Given the description of an element on the screen output the (x, y) to click on. 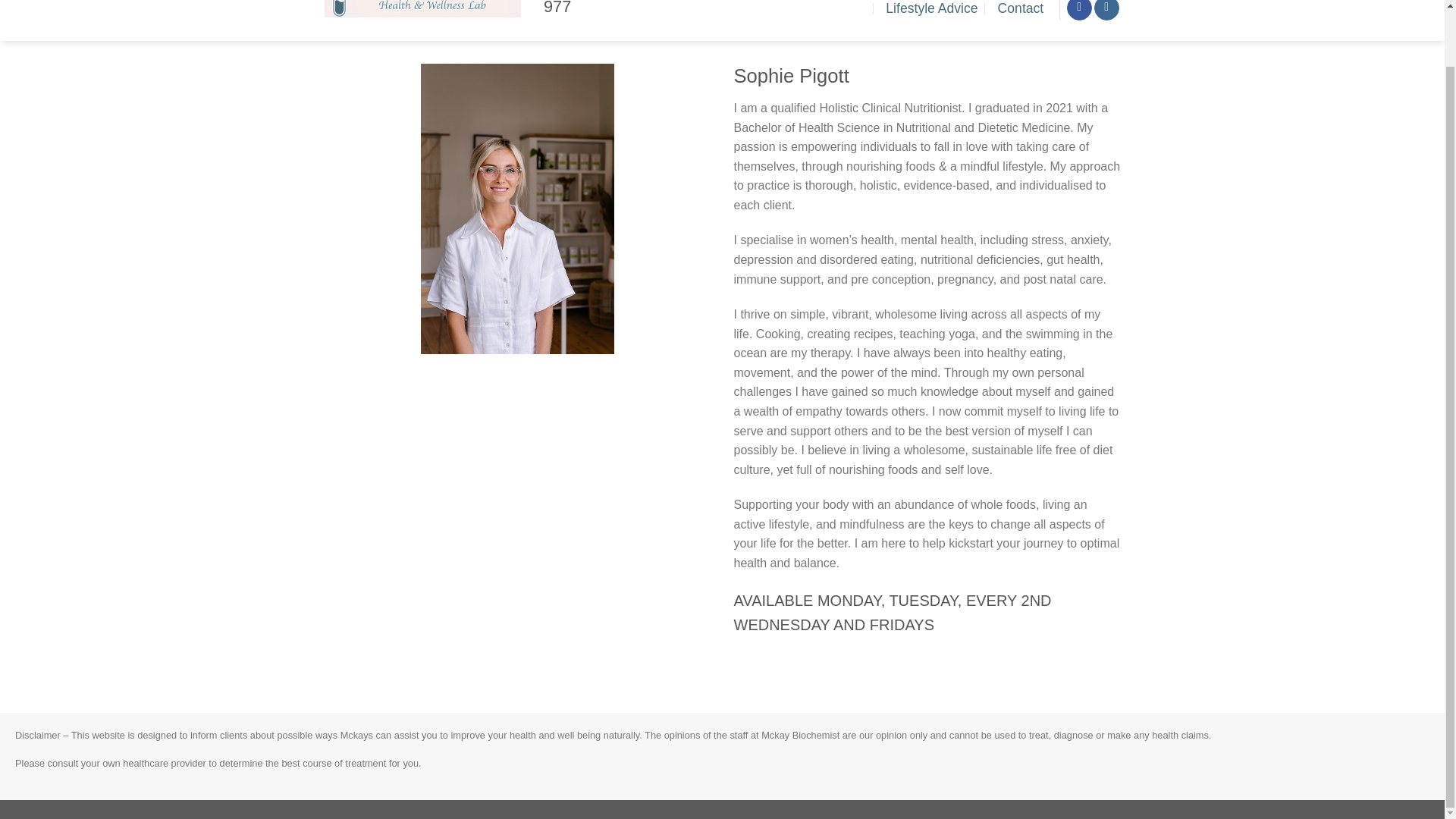
Follow on Facebook (1079, 10)
Follow on Instagram (1106, 10)
Contact (1020, 13)
Lifestyle Advice (930, 13)
